Given the description of an element on the screen output the (x, y) to click on. 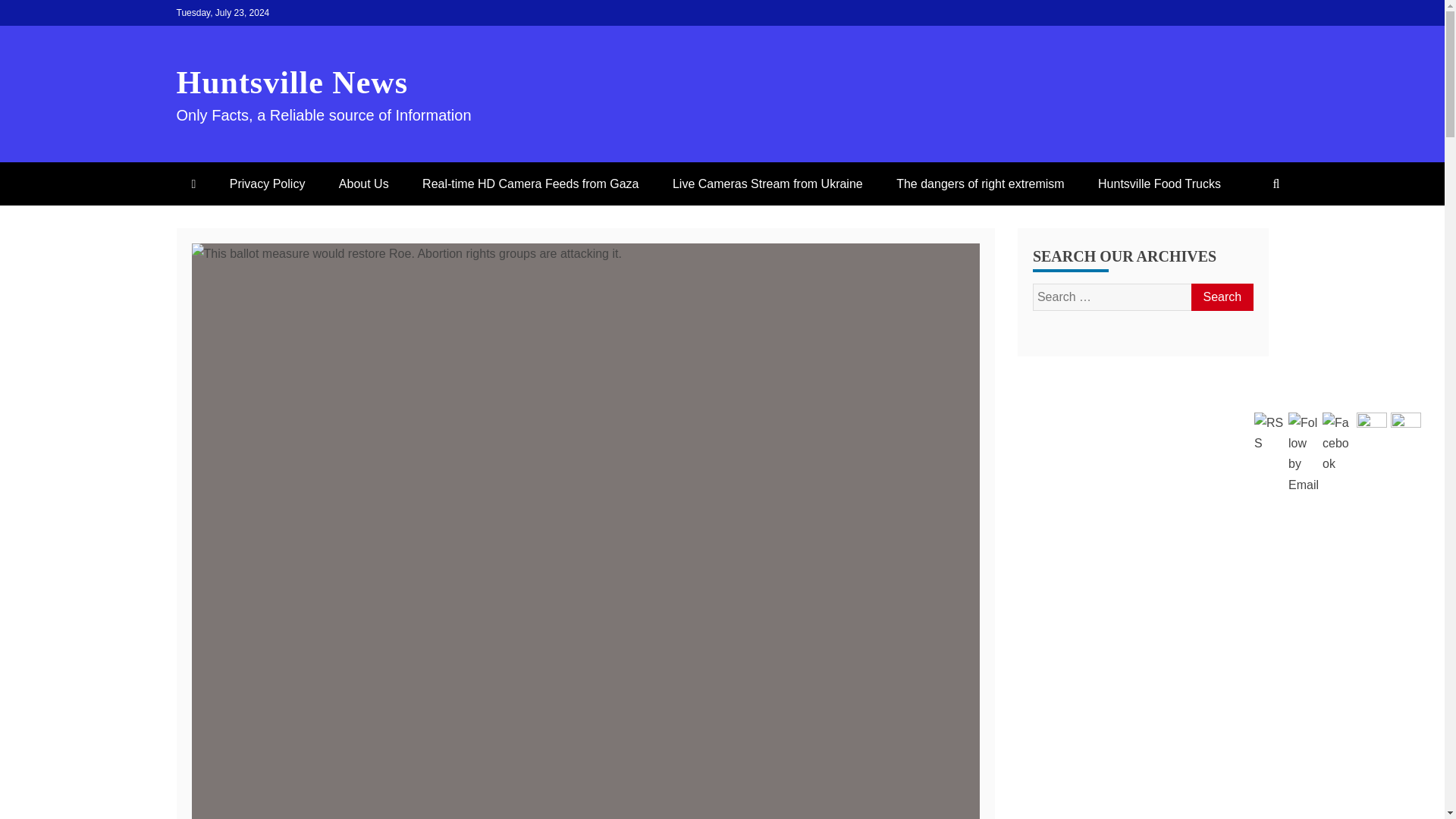
Search (1221, 297)
Privacy Policy (267, 183)
Huntsville Food Trucks (1159, 183)
Huntsville News (291, 82)
Real-time HD Camera Feeds from Gaza (530, 183)
Live Cameras Stream from Ukraine (767, 183)
About Us (363, 183)
Search (1221, 297)
The dangers of right extremism (979, 183)
